Given the description of an element on the screen output the (x, y) to click on. 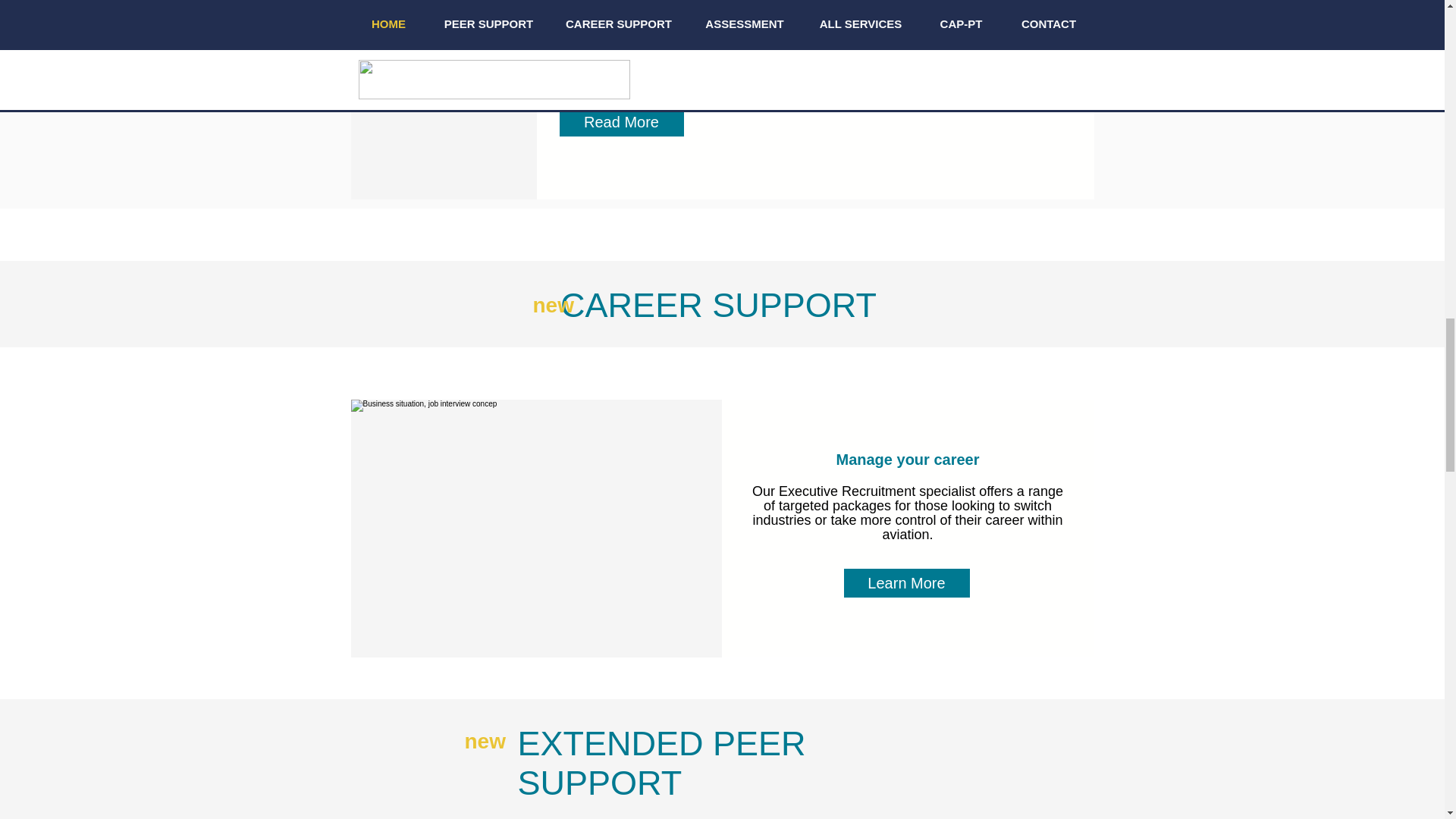
Learn More (907, 583)
Read More (620, 122)
